Given the description of an element on the screen output the (x, y) to click on. 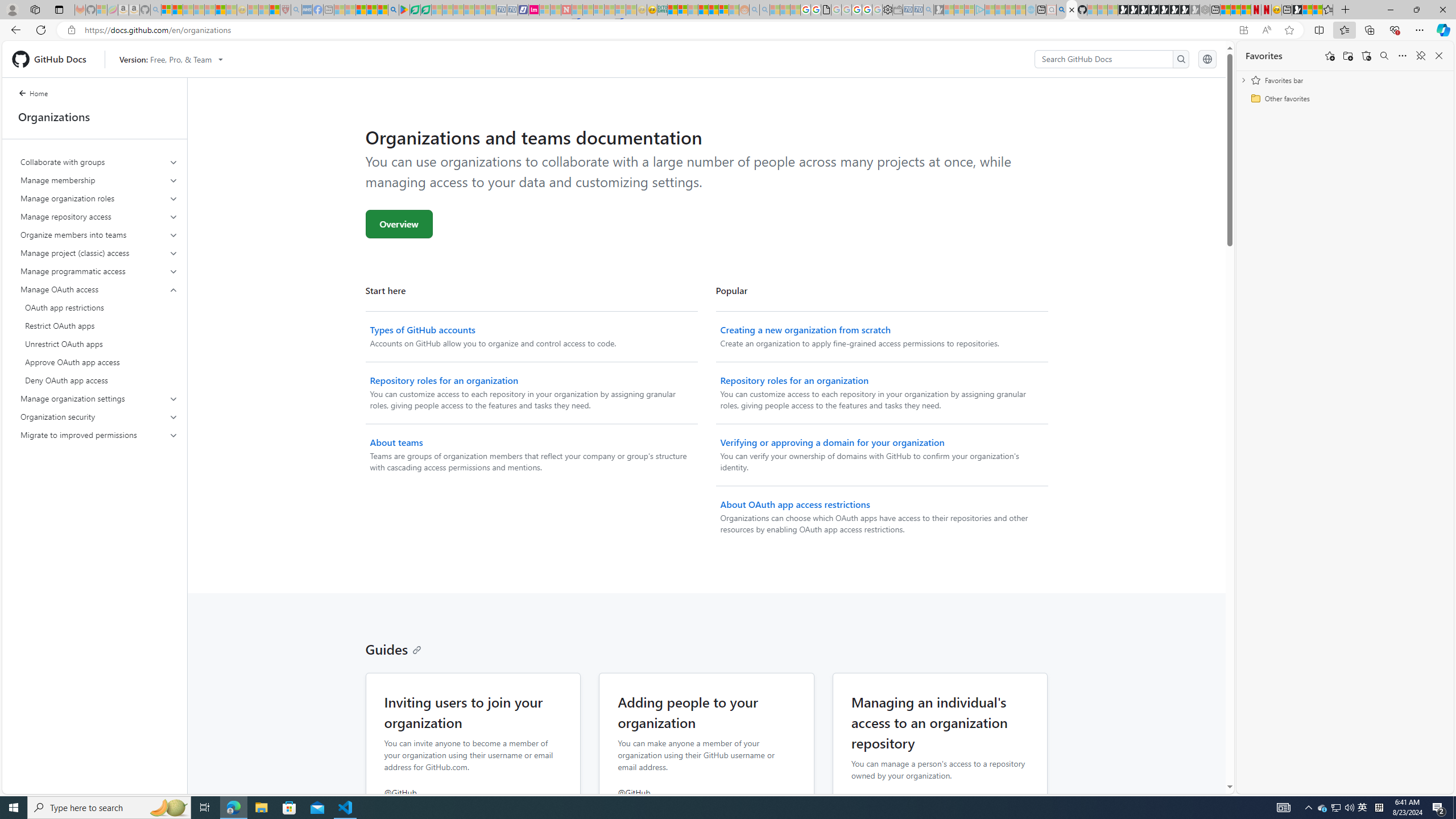
Bluey: Let's Play! - Apps on Google Play (404, 9)
Approve OAuth app access (99, 361)
Manage organization roles (99, 198)
Organizations (94, 116)
Migrate to improved permissions (99, 434)
Terms of Use Agreement (414, 9)
